Given the description of an element on the screen output the (x, y) to click on. 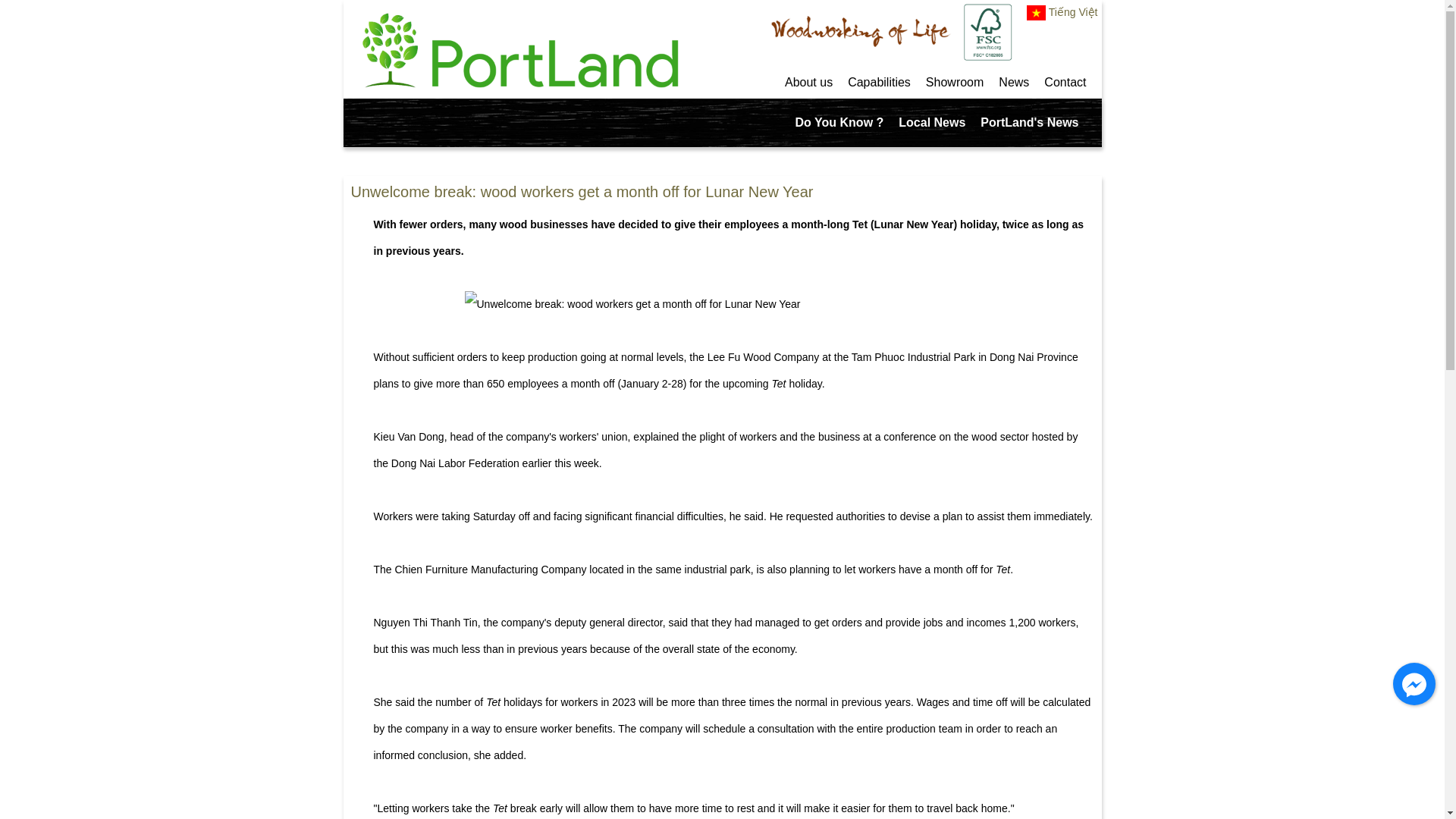
PortLand's News (1029, 122)
Capabilities (879, 82)
About us (808, 82)
Do You Know ? (839, 122)
Contact (1064, 82)
News (1013, 82)
Showroom (954, 82)
Local News (931, 122)
